Given the description of an element on the screen output the (x, y) to click on. 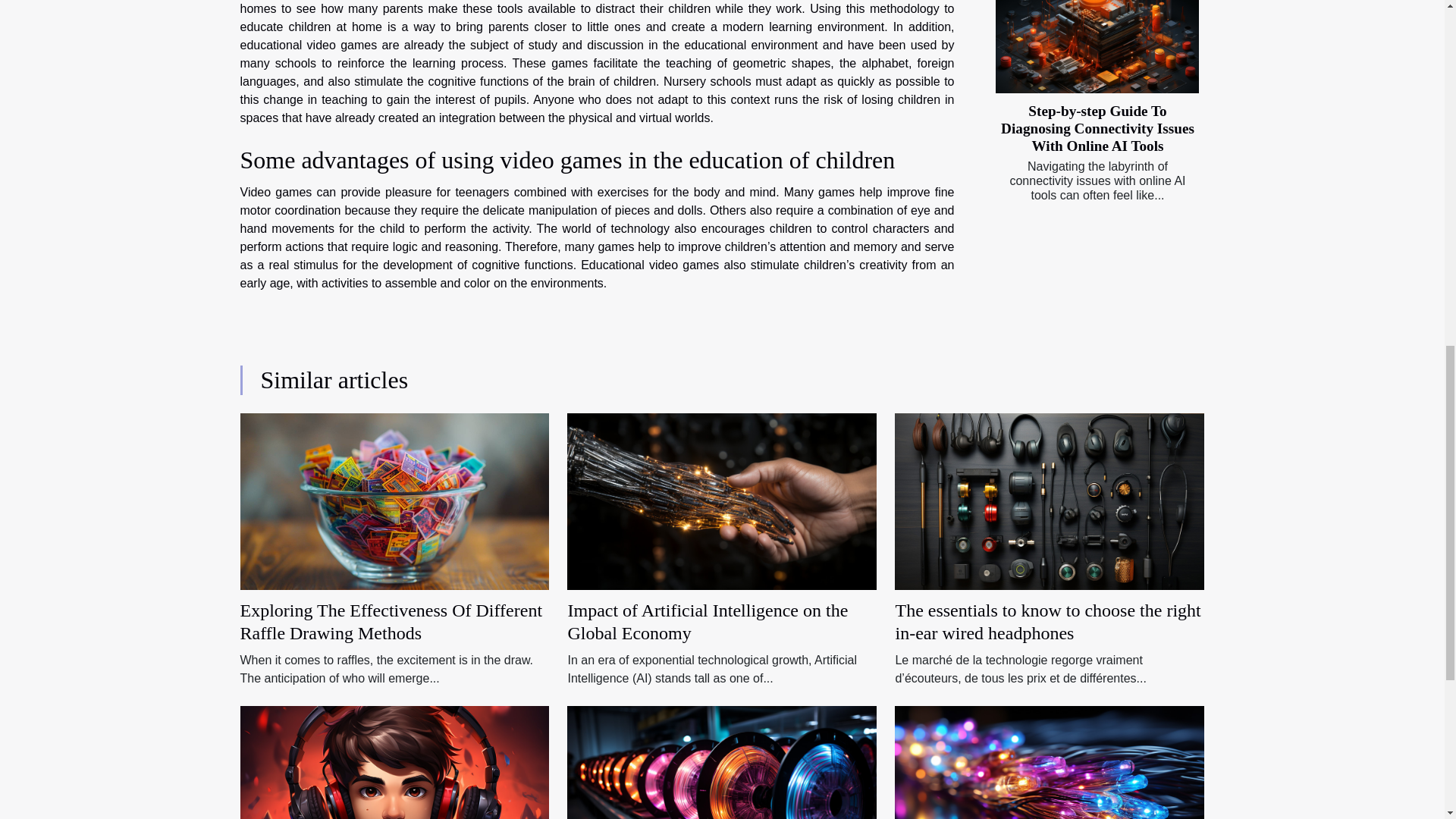
Impact of Artificial Intelligence on the Global Economy (721, 500)
Become a youtuber player : how to achieve ? (394, 793)
Impact of Artificial Intelligence on the Global Economy (707, 621)
Impact of Artificial Intelligence on the Global Economy (707, 621)
